Given the description of an element on the screen output the (x, y) to click on. 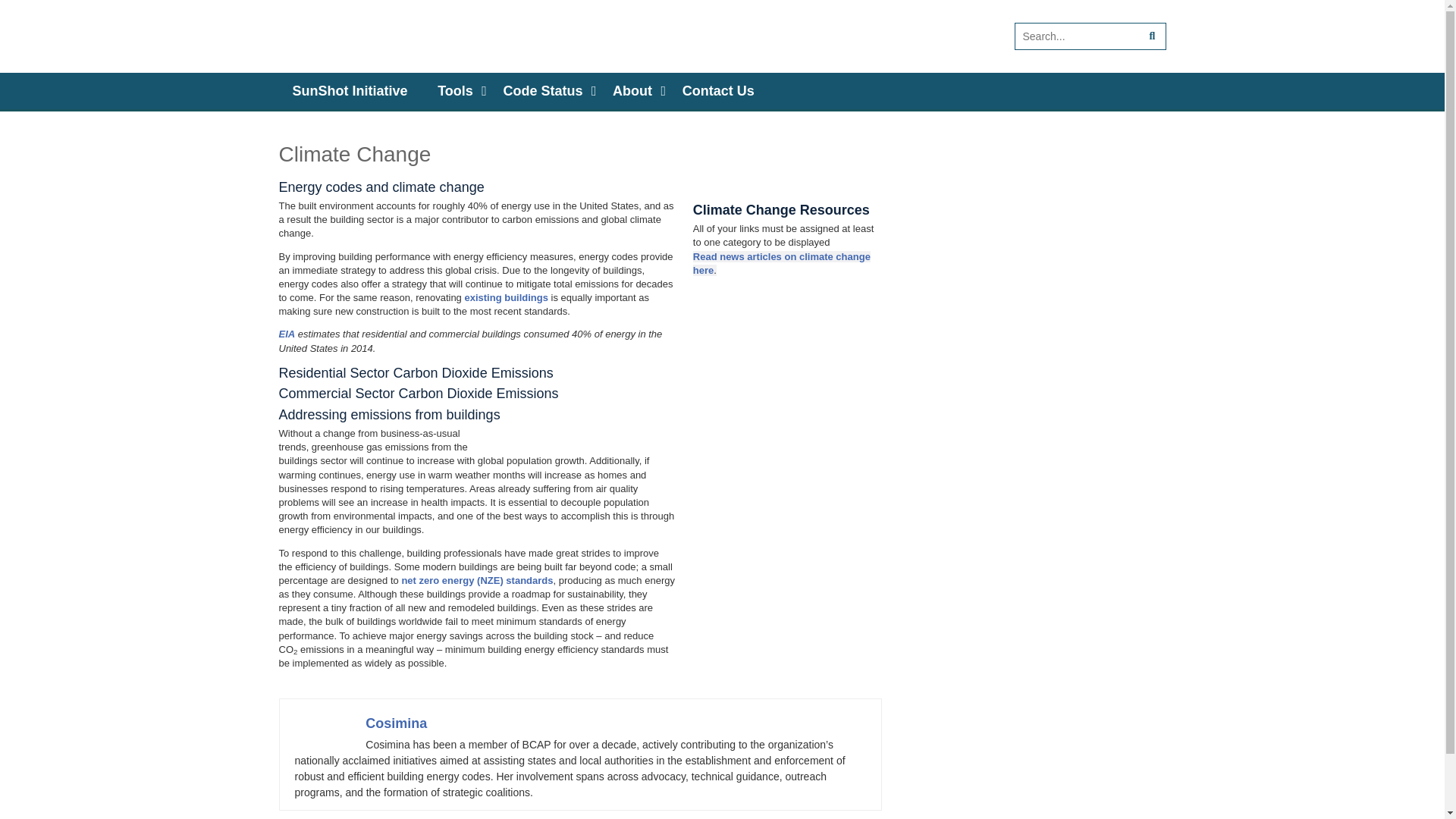
Contact Us (718, 90)
Tools (454, 90)
About (631, 90)
existing buildings (506, 297)
EIA (287, 333)
Cosimina (395, 723)
SunShot Initiative (350, 90)
Read news articles on climate change here (781, 263)
Code Status (542, 90)
